Given the description of an element on the screen output the (x, y) to click on. 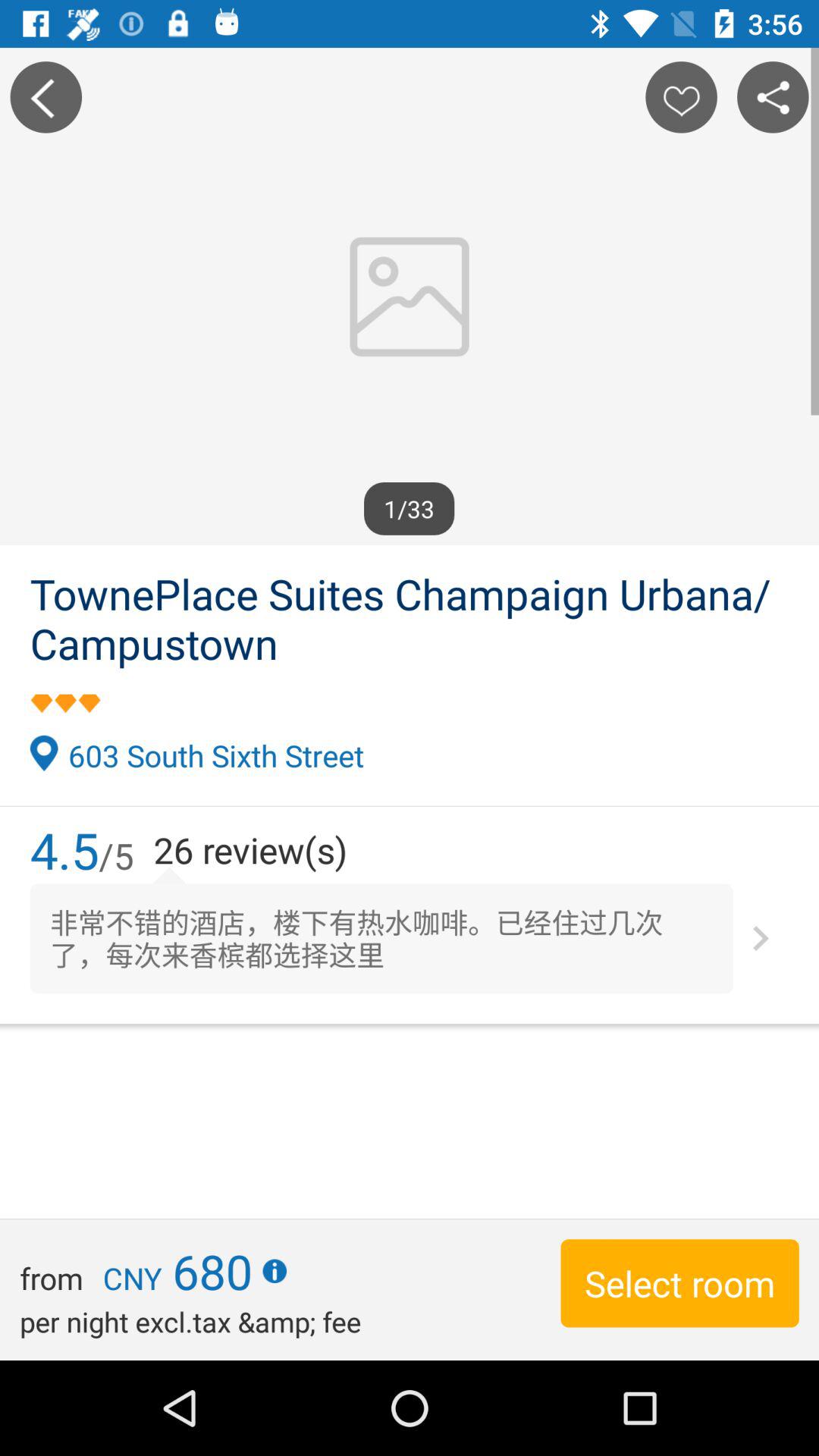
select the icon above the towneplace suites champaign (772, 97)
